Given the description of an element on the screen output the (x, y) to click on. 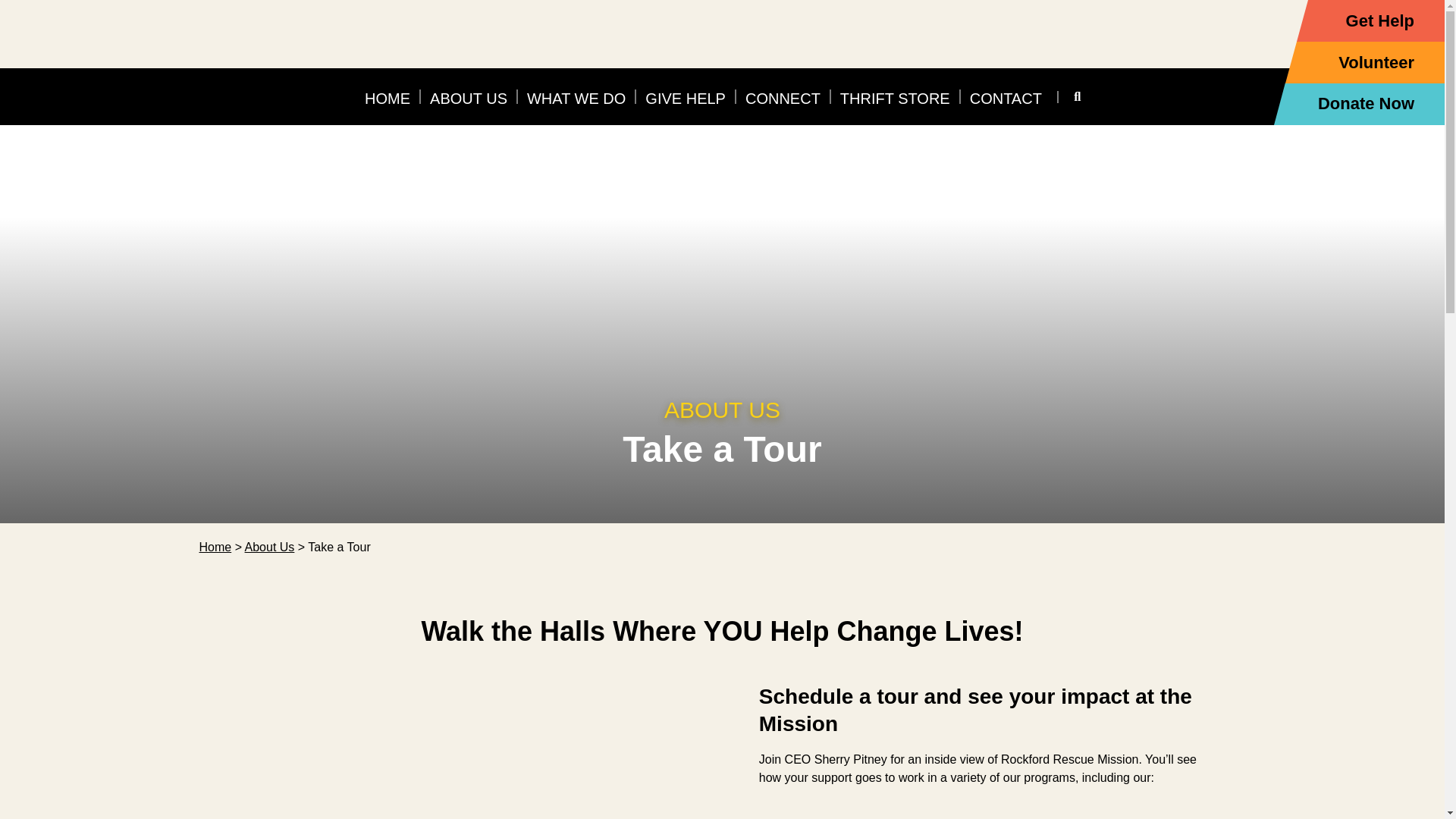
CONNECT (782, 96)
HOME (387, 96)
GIVE HELP (685, 96)
WHAT WE DO (576, 96)
ABOUT US (468, 96)
